Given the description of an element on the screen output the (x, y) to click on. 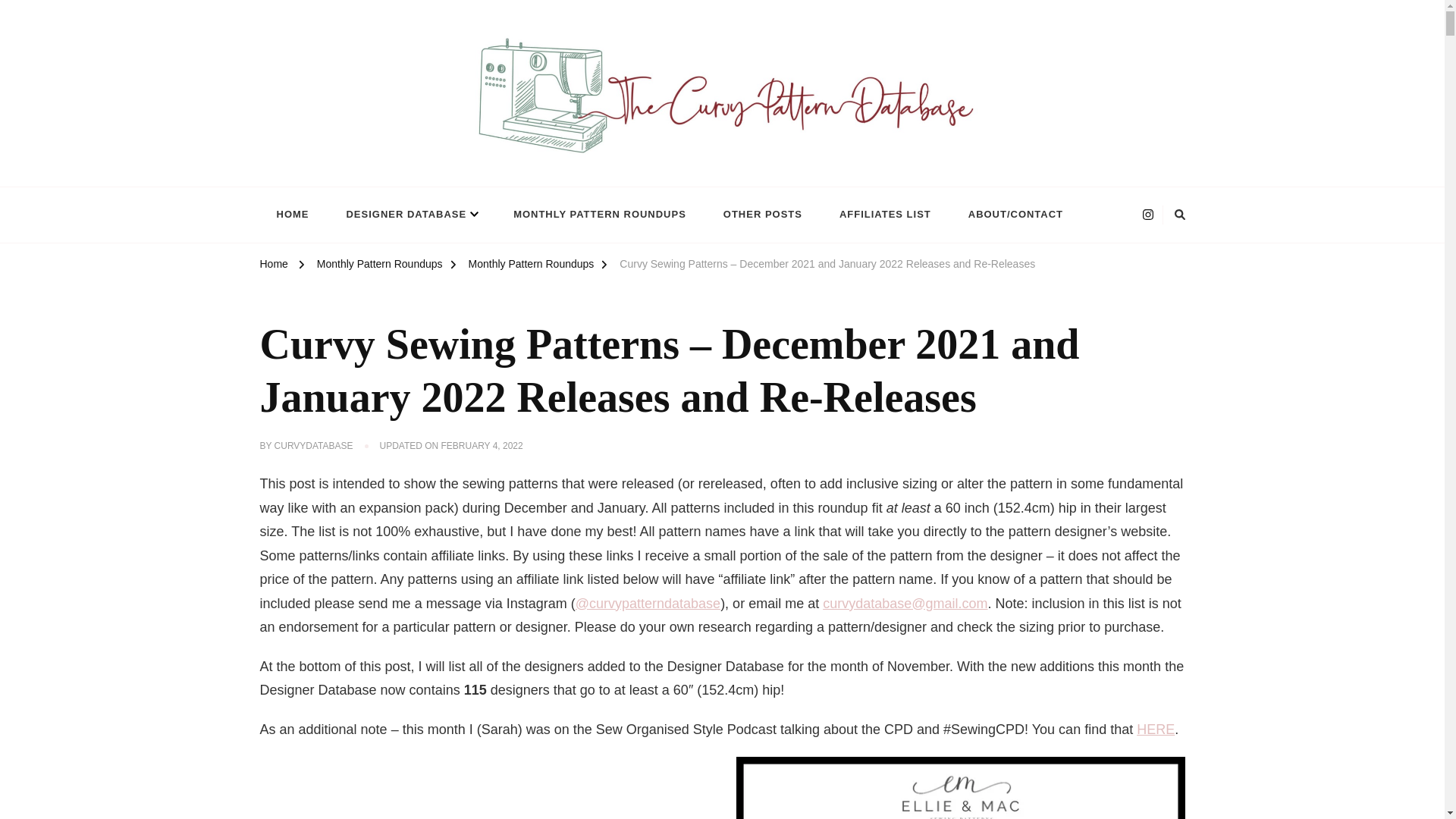
The Curvy Pattern Database (398, 178)
OTHER POSTS (762, 214)
Monthly Pattern Roundups (379, 265)
HERE (1155, 729)
Search (976, 214)
CURVYDATABASE (314, 446)
DESIGNER DATABASE (411, 214)
HOME (291, 214)
MONTHLY PATTERN ROUNDUPS (599, 214)
Monthly Pattern Roundups (531, 265)
FEBRUARY 4, 2022 (481, 446)
Search (976, 214)
AFFILIATES LIST (884, 214)
Search (976, 214)
Home (272, 265)
